Given the description of an element on the screen output the (x, y) to click on. 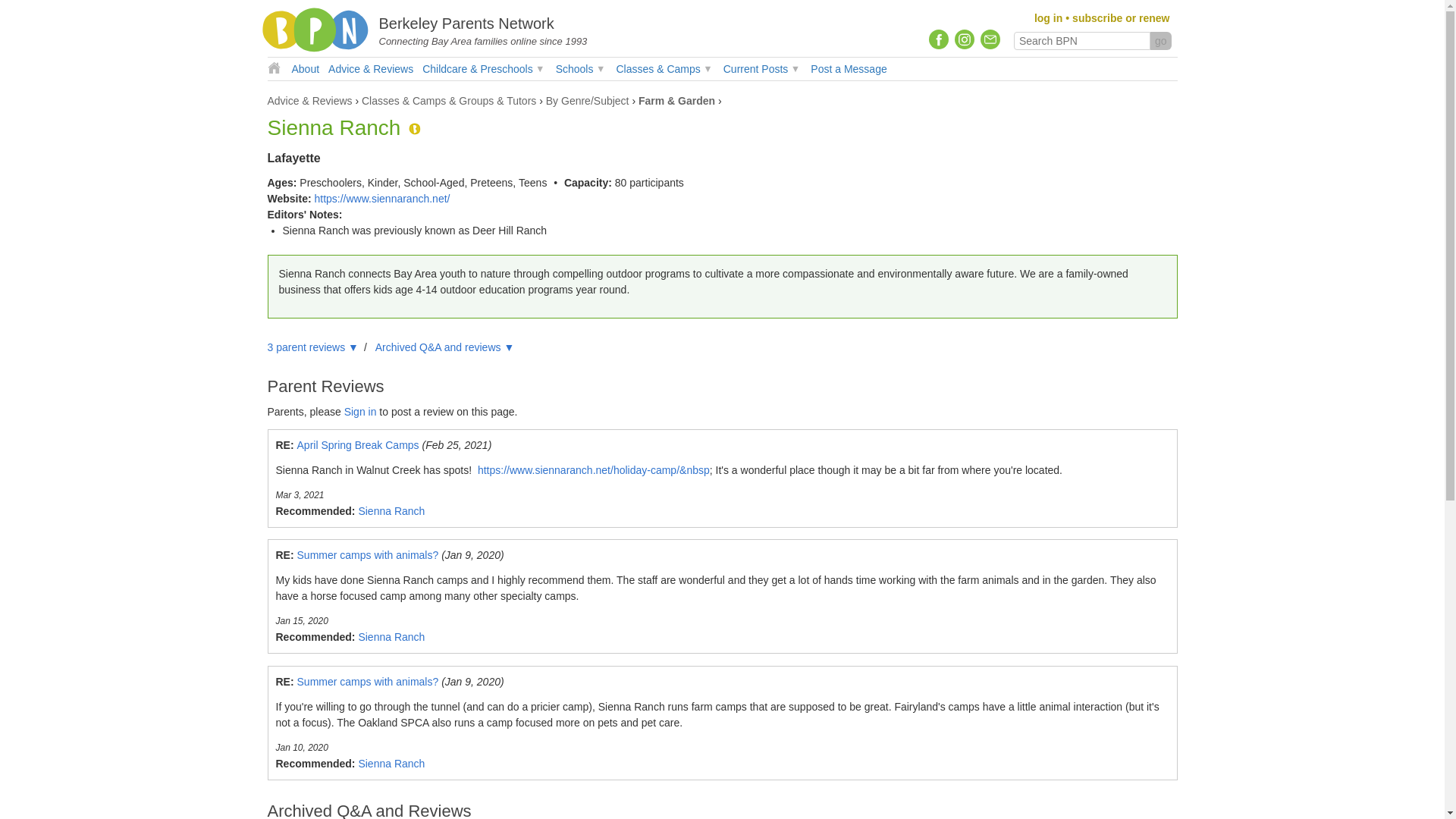
An archive of parents discussions on BPN (371, 68)
subscribe or renew (1120, 18)
Enter the terms you wish to search for. (1081, 40)
log in (1047, 18)
Contact us (988, 39)
About (304, 68)
Follow us on Instagram (964, 39)
Go (1161, 40)
Go (1161, 40)
